Given the description of an element on the screen output the (x, y) to click on. 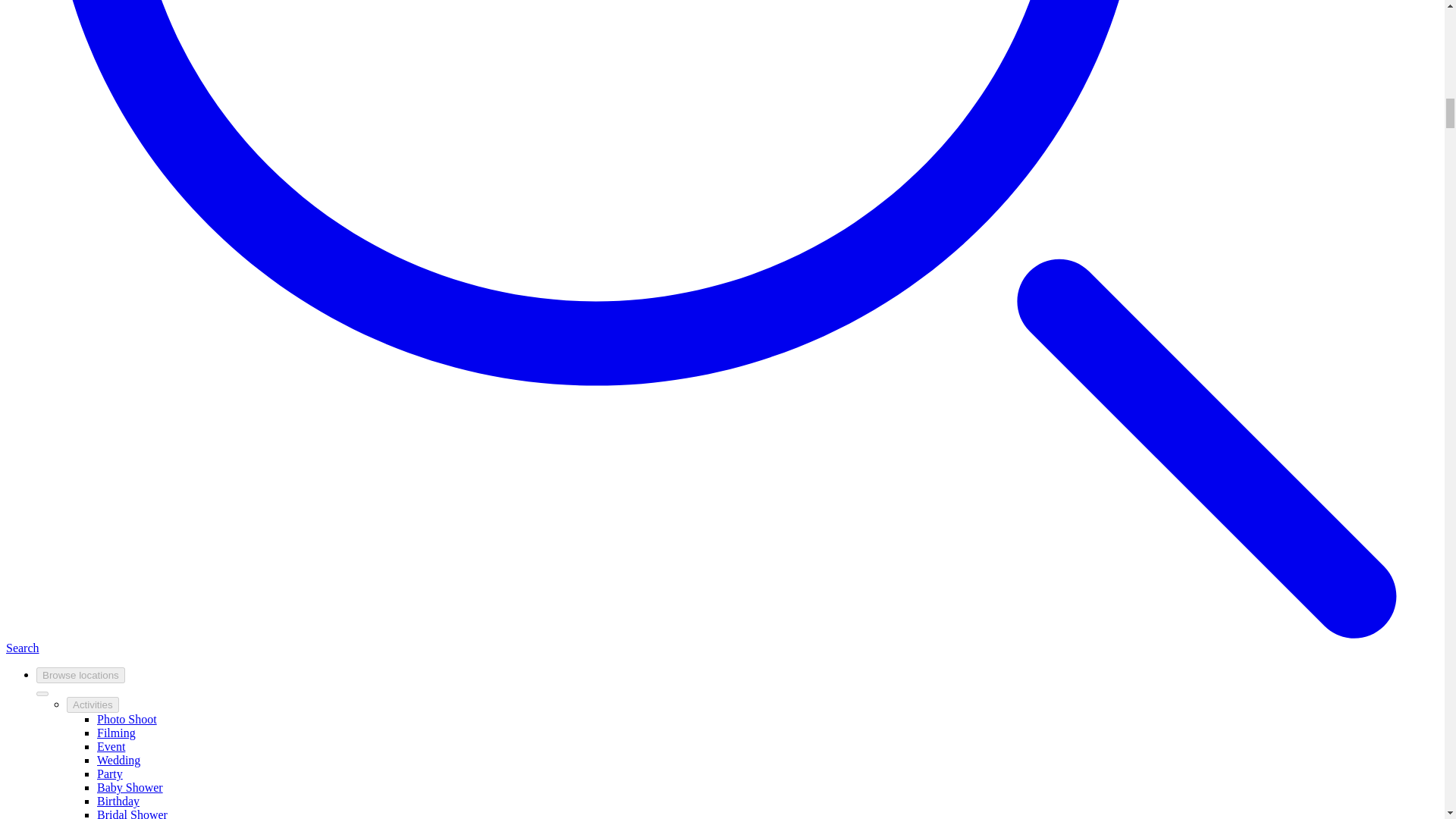
Wedding (118, 759)
Browse locations (80, 675)
Birthday (118, 800)
Filming (116, 732)
Event (111, 746)
Photo Shoot (127, 718)
Bridal Shower (132, 813)
Baby Shower (130, 787)
Activities (92, 704)
Party (109, 773)
